Given the description of an element on the screen output the (x, y) to click on. 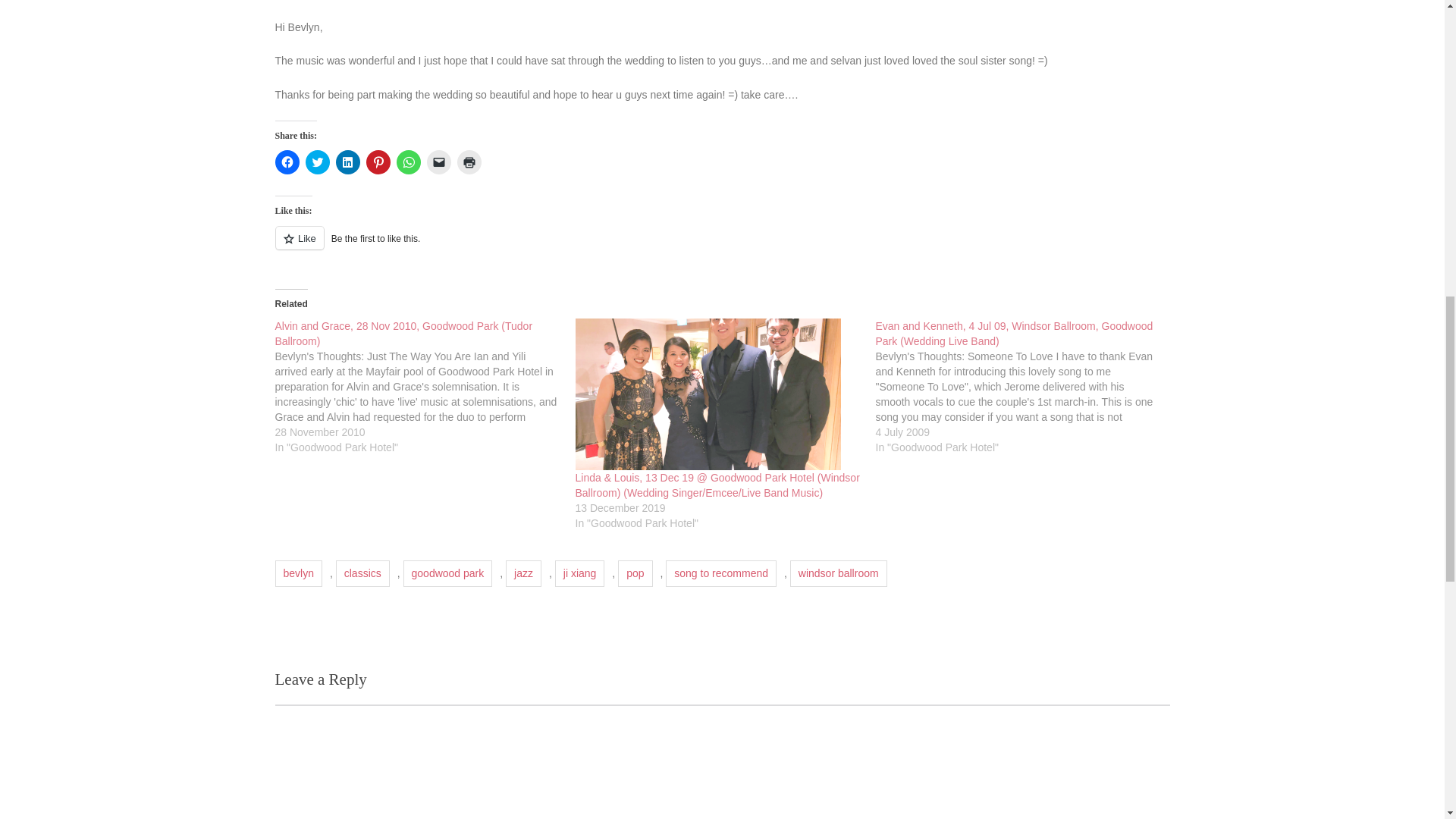
Click to share on WhatsApp (408, 161)
Click to print (468, 161)
Click to share on LinkedIn (346, 161)
Click to share on Facebook (286, 161)
Click to share on Pinterest (377, 161)
Comment Form (722, 761)
Click to share on Twitter (316, 161)
Click to email a link to a friend (437, 161)
Like or Reblog (722, 246)
